Given the description of an element on the screen output the (x, y) to click on. 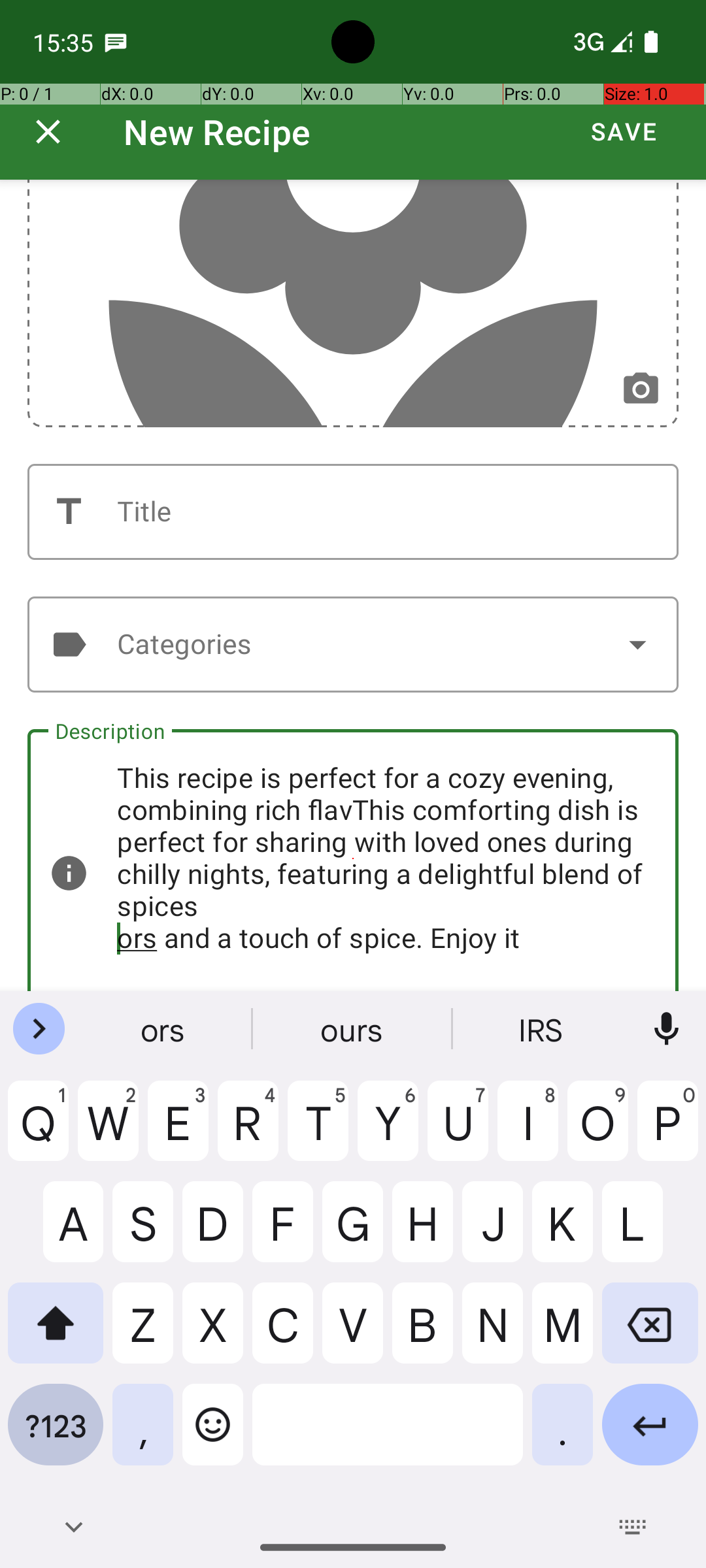
Change photo Element type: android.widget.ImageView (640, 389)
Title Element type: android.widget.EditText (352, 511)
This recipe is perfect for a cozy evening, combining rich flavThis comforting dish is perfect for sharing with loved ones during chilly nights, featuring a delightful blend of spices
ors and a touch of spice. Enjoy it
 Element type: android.widget.EditText (352, 860)
ors Element type: android.widget.FrameLayout (163, 1028)
ours Element type: android.widget.FrameLayout (352, 1028)
IRS Element type: android.widget.FrameLayout (541, 1028)
